Given the description of an element on the screen output the (x, y) to click on. 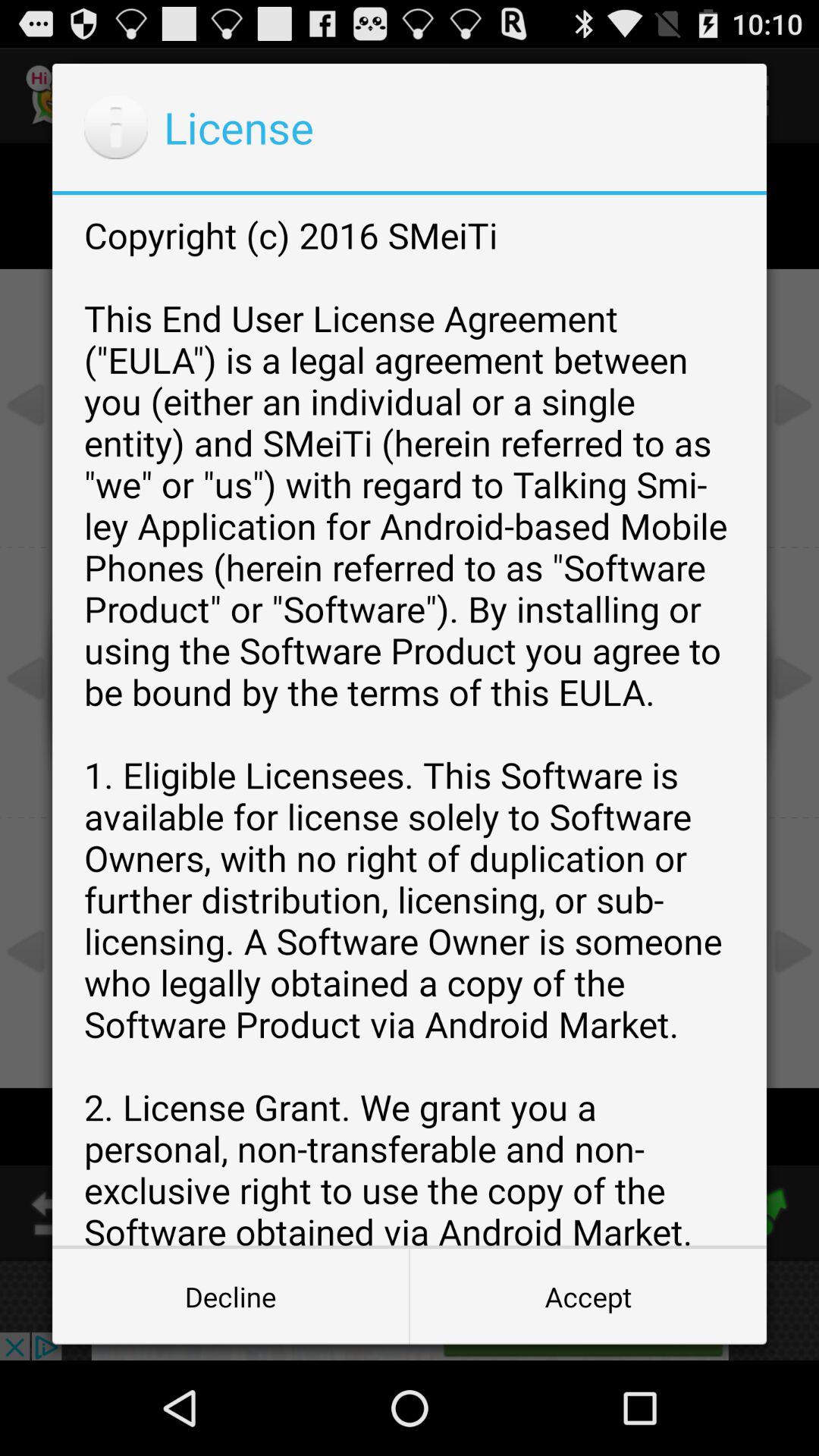
jump until the accept icon (588, 1296)
